Given the description of an element on the screen output the (x, y) to click on. 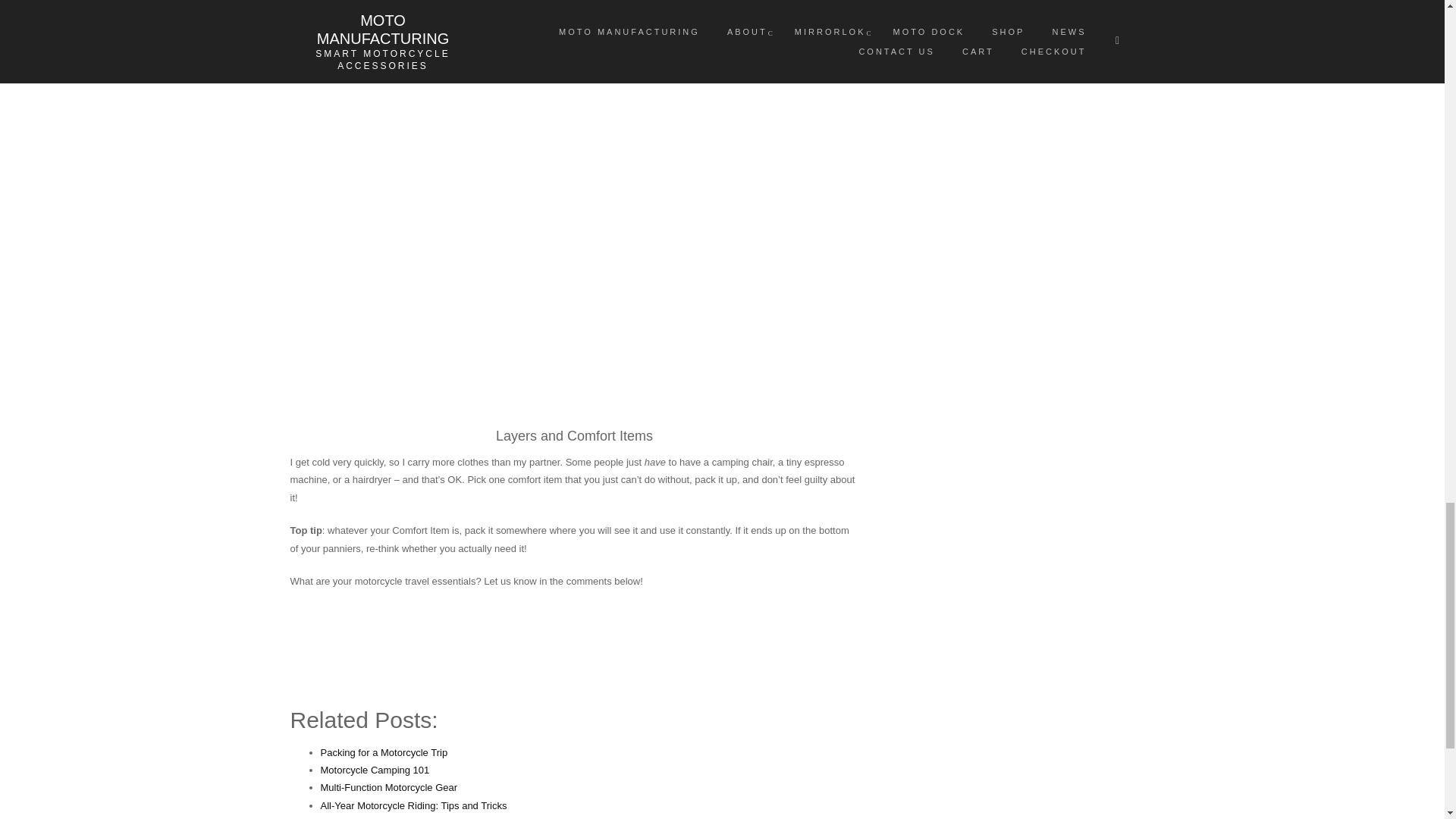
Multi-Function Motorcycle Gear (388, 787)
All-Year Motorcycle Riding: Tips and Tricks (413, 805)
Motorcycle Camping 101 (374, 769)
Packing for a Motorcycle Trip (383, 752)
